Given the description of an element on the screen output the (x, y) to click on. 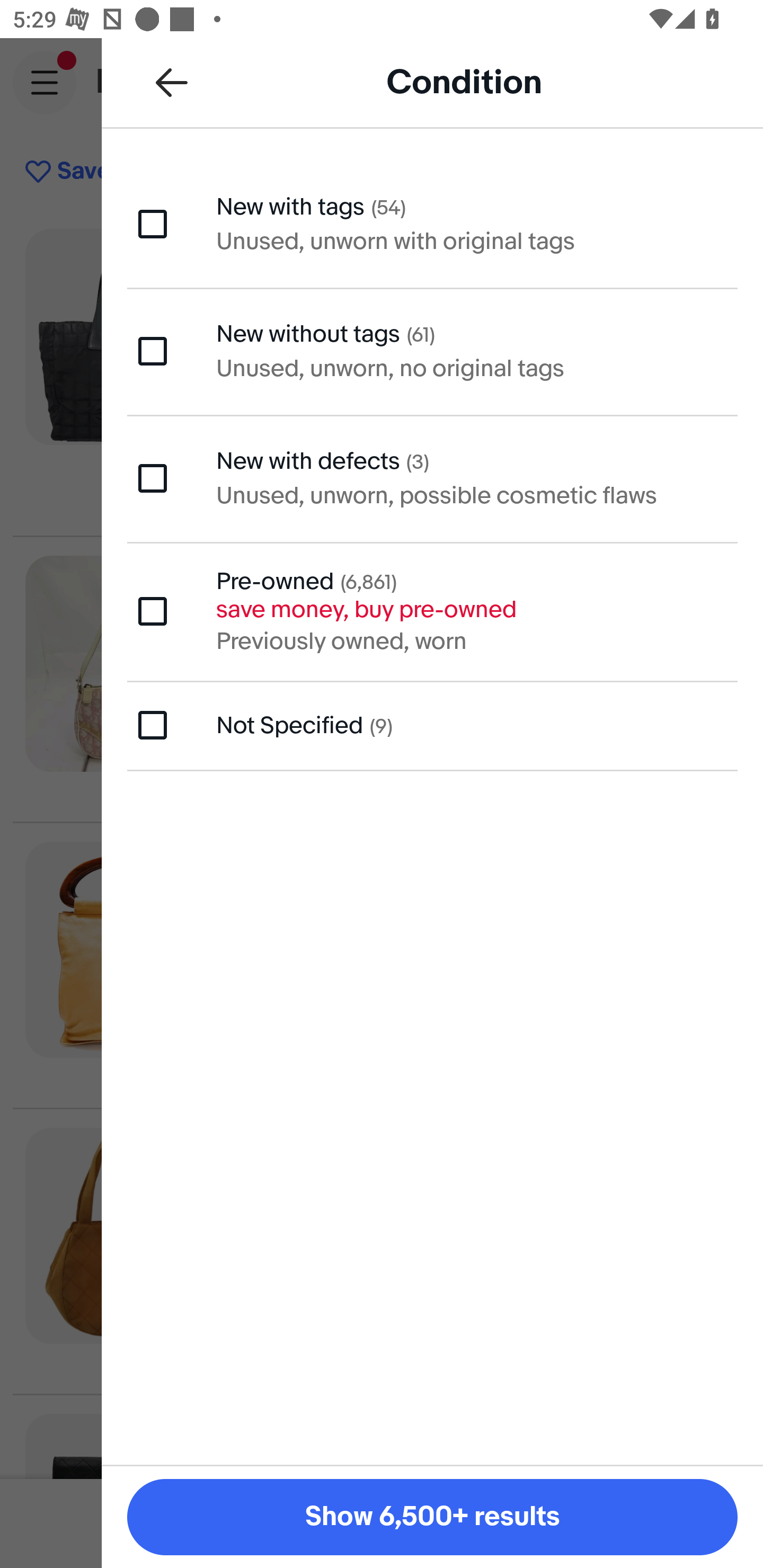
Back to all refinements (171, 81)
Not Specified (9) (432, 724)
Show 6,500+ results (432, 1516)
